Given the description of an element on the screen output the (x, y) to click on. 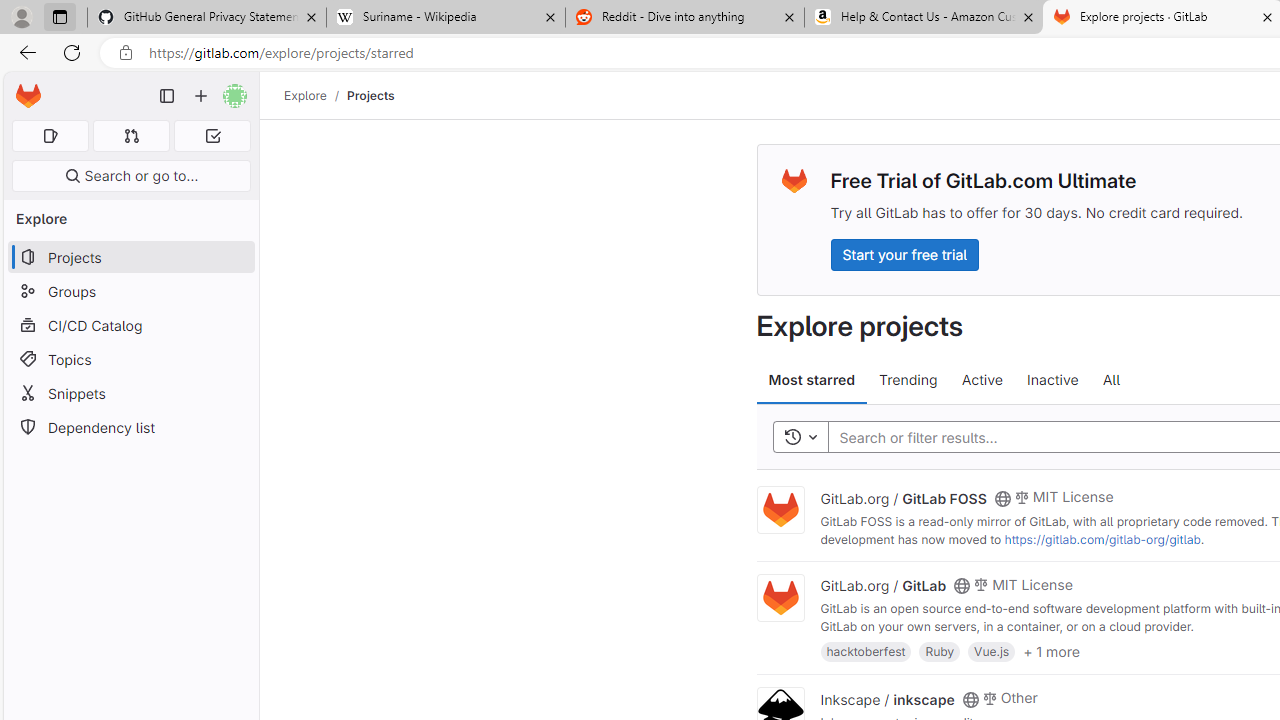
Snippets (130, 393)
Inactive (1052, 379)
Class: project (780, 597)
GitLab.org / GitLab FOSS (903, 497)
